Given the description of an element on the screen output the (x, y) to click on. 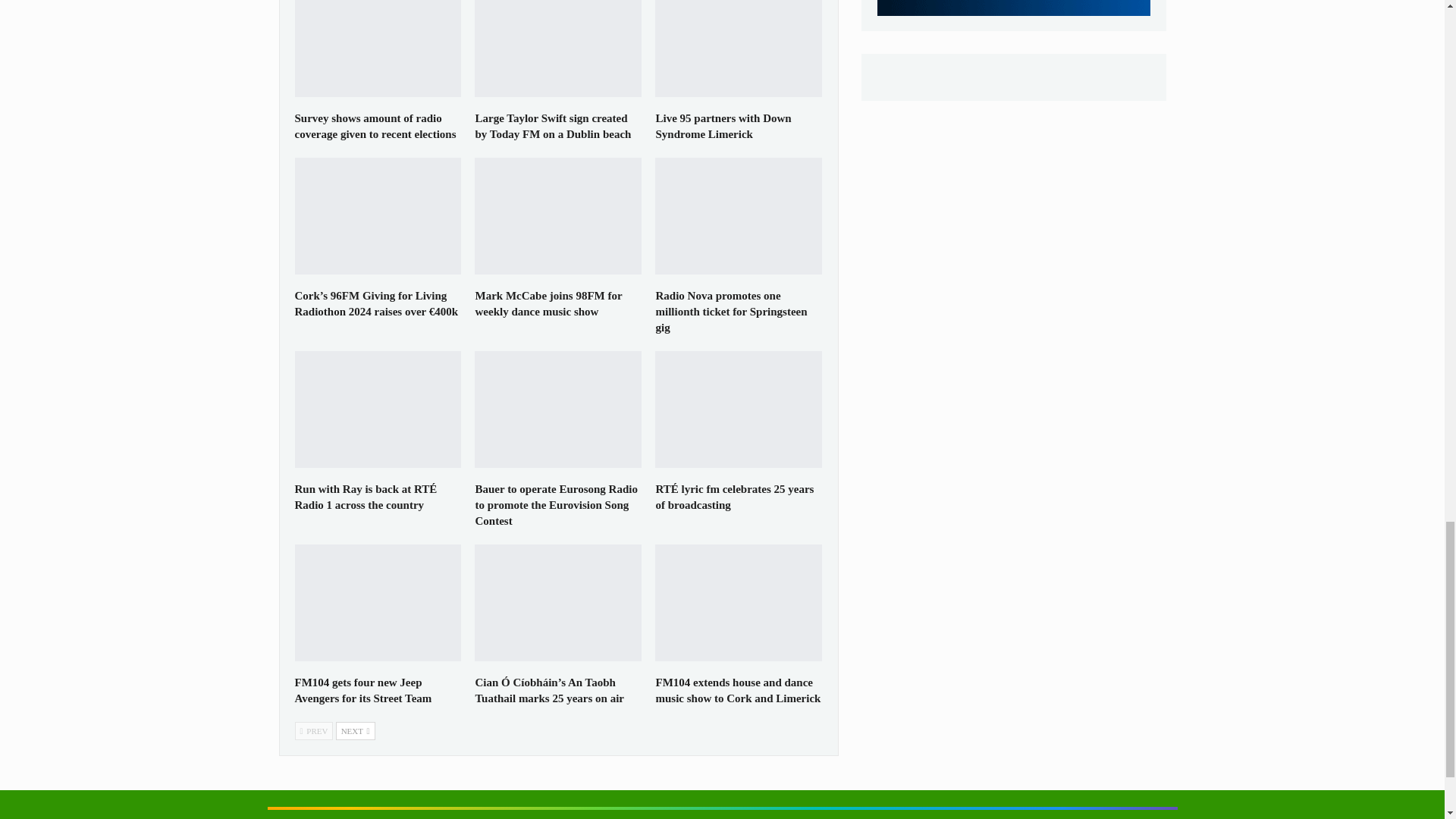
Radio Nova promotes one millionth ticket for Springsteen gig (738, 216)
Mark McCabe joins 98FM for weekly dance music show (547, 303)
Live 95 partners with Down Syndrome Limerick (738, 48)
Radio Nova promotes one millionth ticket for Springsteen gig (730, 311)
Live 95 partners with Down Syndrome Limerick (722, 126)
Mark McCabe joins 98FM for weekly dance music show (558, 216)
